Given the description of an element on the screen output the (x, y) to click on. 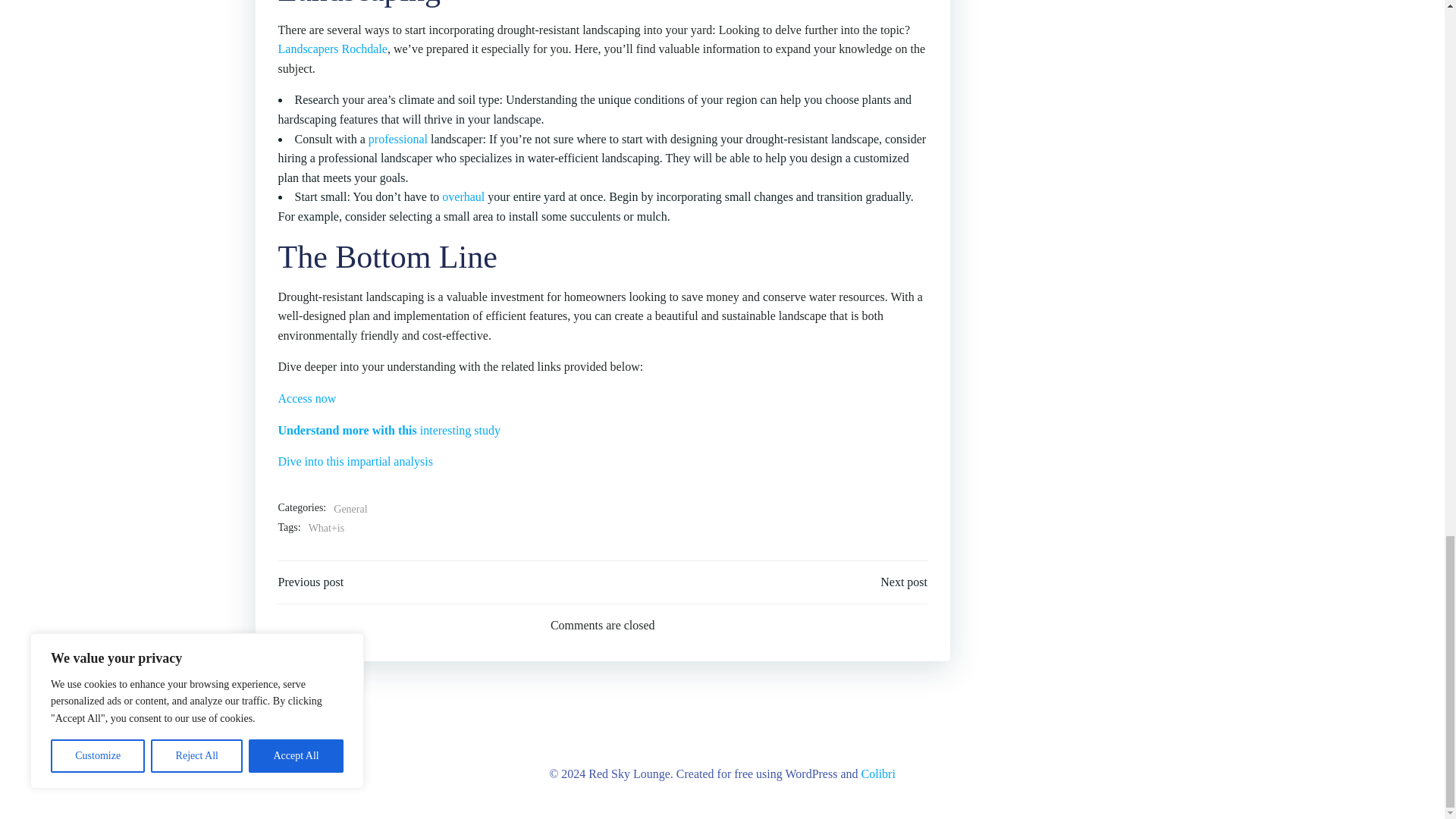
professional (398, 138)
Landscapers Rochdale (332, 48)
Understand more with this interesting study (389, 430)
Next post (903, 582)
Access now (307, 398)
Dive into this impartial analysis (355, 461)
Previous post (310, 582)
overhaul (463, 196)
General (349, 509)
